Given the description of an element on the screen output the (x, y) to click on. 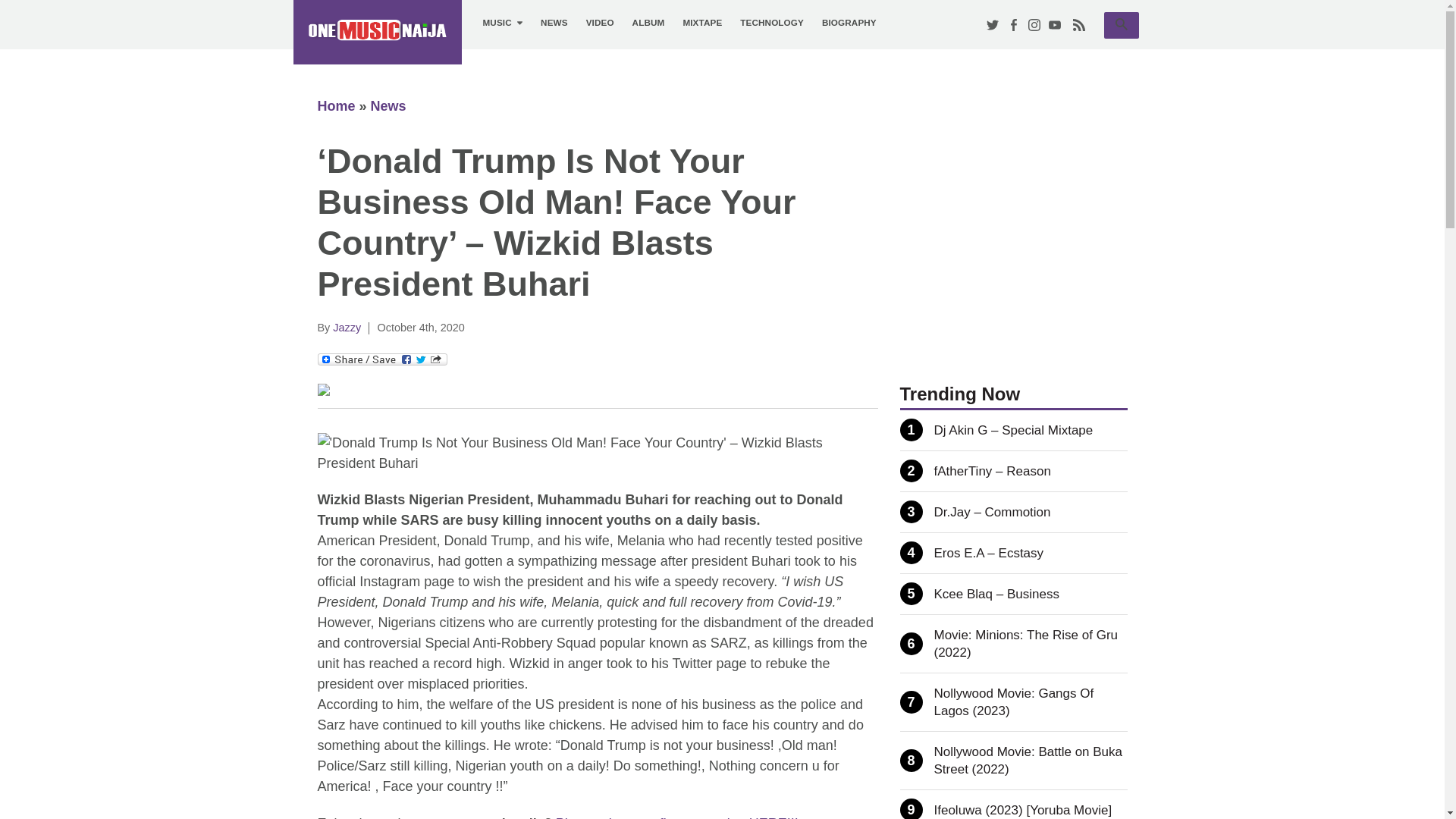
VIDEO (599, 22)
Search (1120, 24)
TECHNOLOGY (1120, 25)
BIOGRAPHY (771, 22)
ALBUM (848, 22)
Please give us a five star rating HERE!!! (648, 22)
Jazzy (676, 817)
MIXTAPE (347, 327)
News (701, 22)
OneMusicNaija (388, 105)
Posts by Jazzy (376, 31)
Home (347, 327)
MUSIC (336, 105)
NEWS (502, 22)
